Given the description of an element on the screen output the (x, y) to click on. 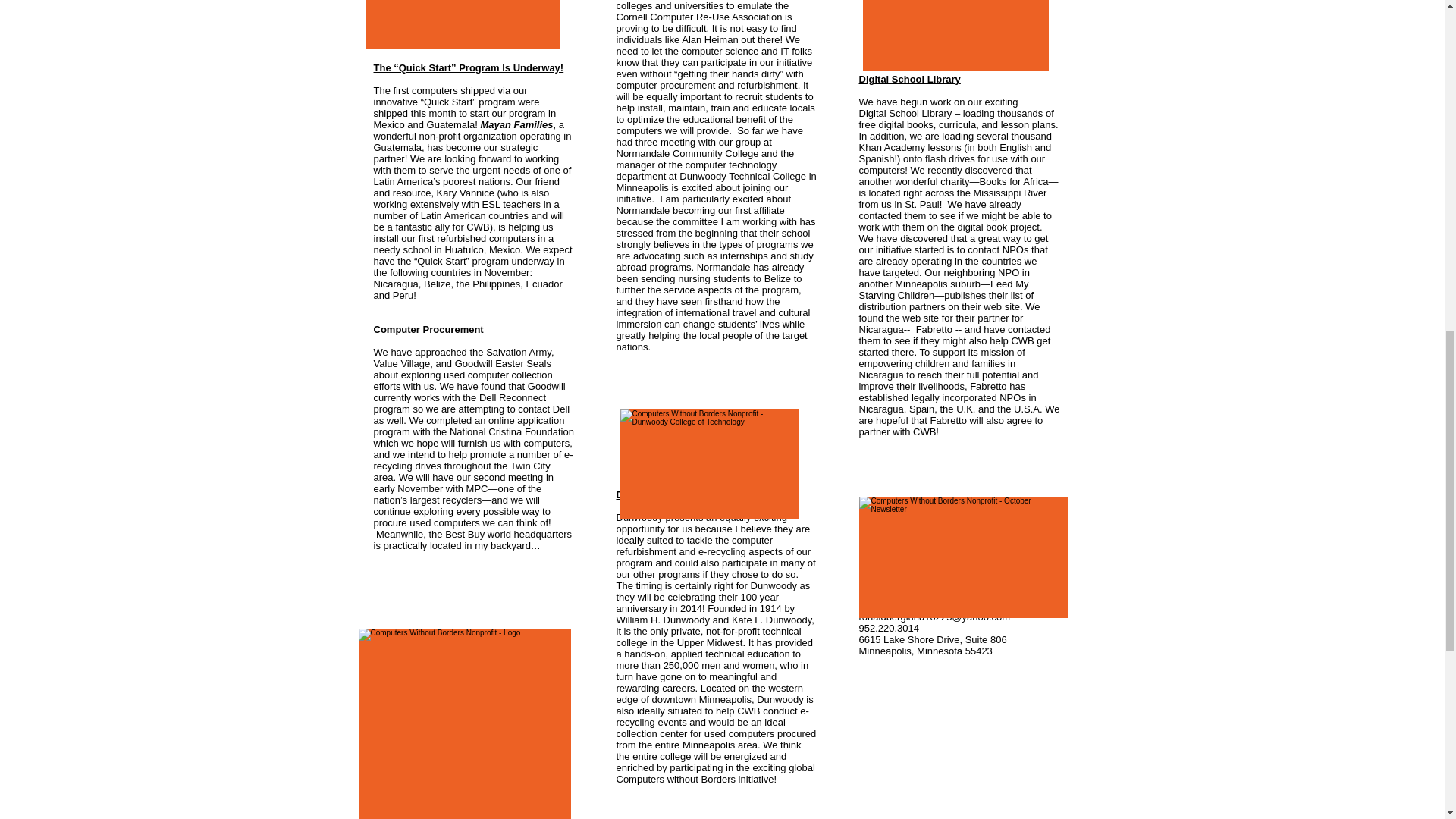
Computers Without Borders Nonprofit - Digital School LIbrary (955, 35)
Computers Without Borders Nonprofit - Logo (464, 723)
Computers Without Borders Nonprofit - Belize (462, 24)
Computers Without Borders Nonprofit - October Newsletter (963, 557)
